Given the description of an element on the screen output the (x, y) to click on. 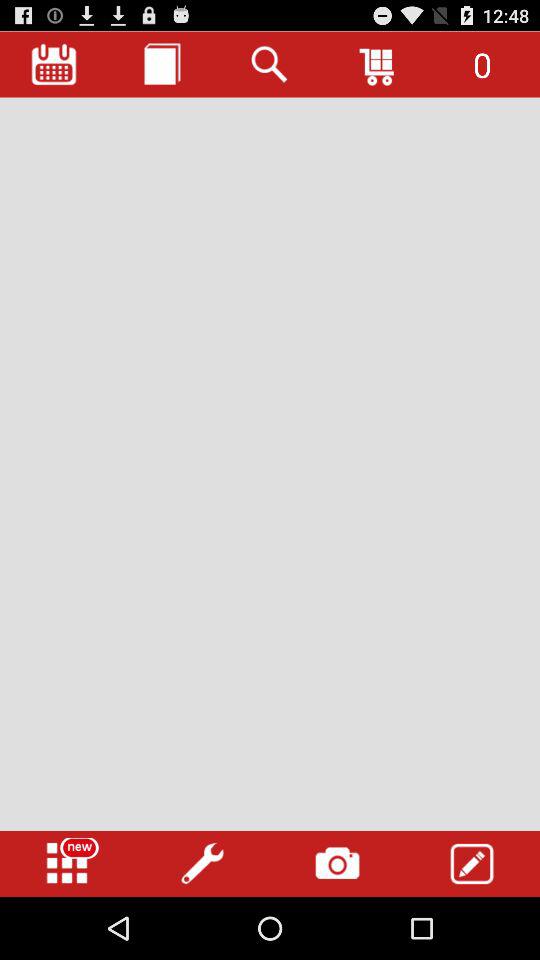
writing notes area (270, 464)
